Given the description of an element on the screen output the (x, y) to click on. 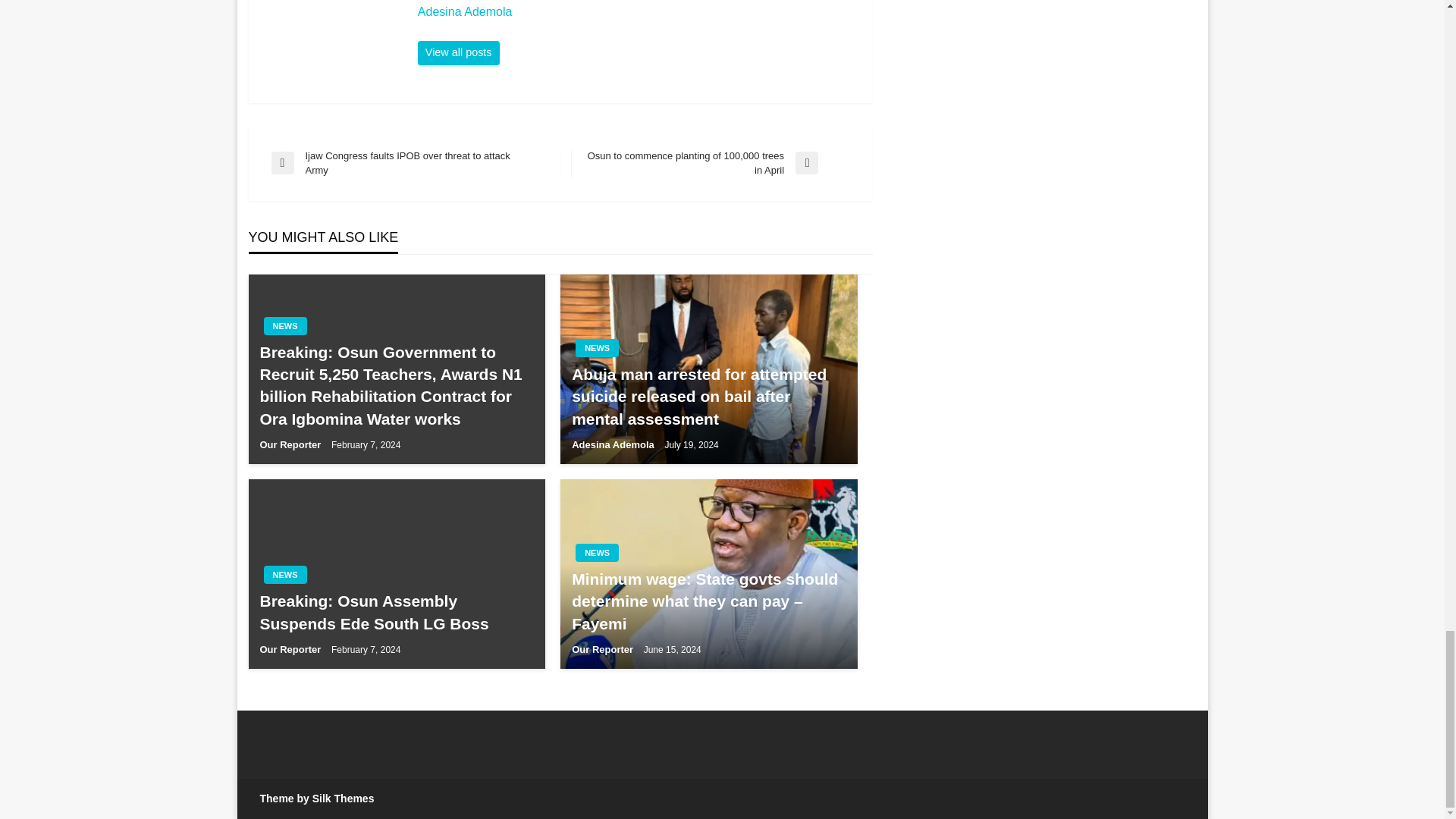
Adesina Ademola (637, 11)
Adesina Ademola (458, 52)
